Given the description of an element on the screen output the (x, y) to click on. 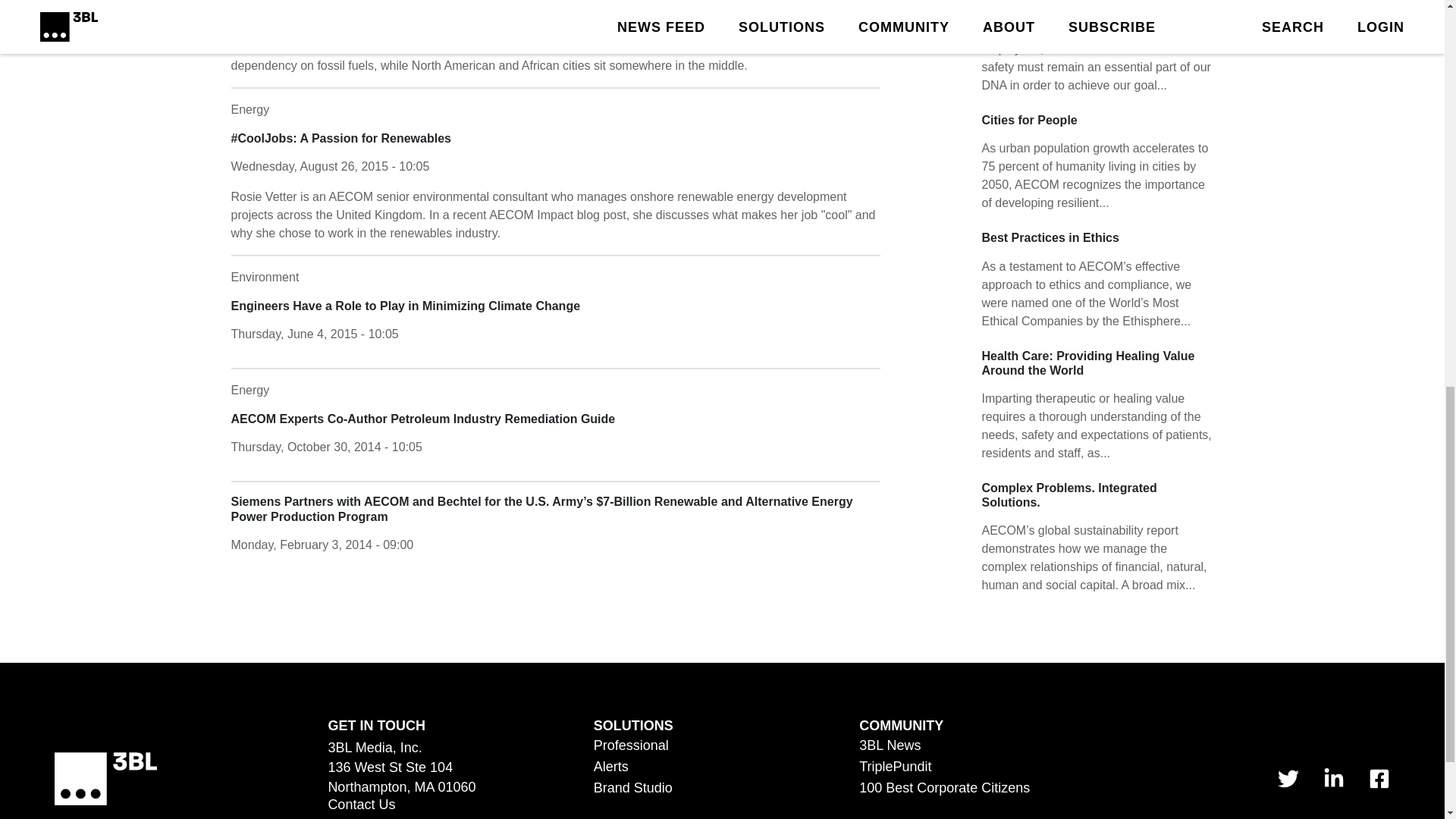
link to 3 B L Media's Facebook (1379, 778)
link to 3 B L Media's Linkedin (1333, 778)
link to 3 B L Media's Twitter (1288, 778)
